Given the description of an element on the screen output the (x, y) to click on. 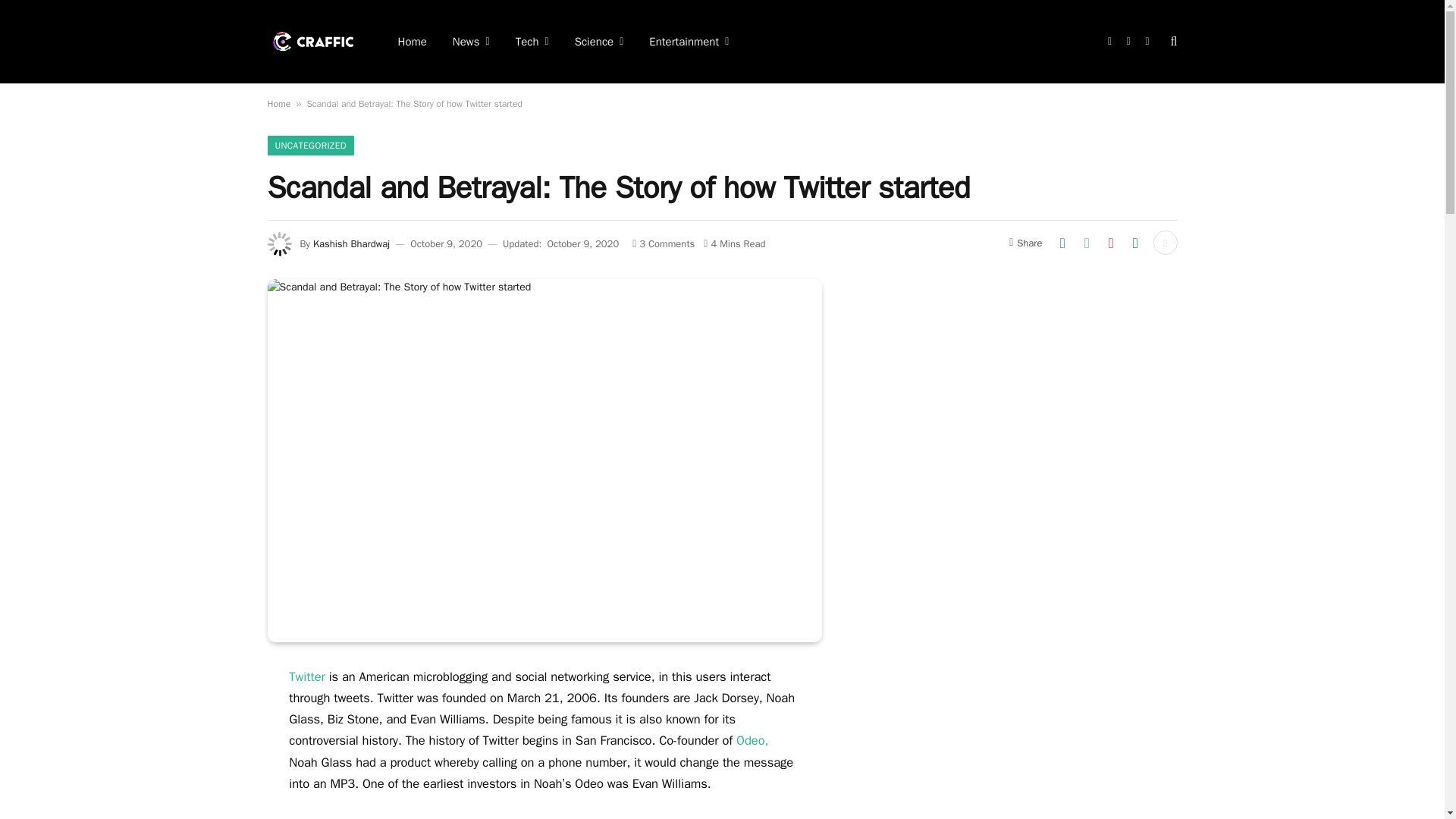
Search (1172, 41)
Science (599, 41)
Craffic (312, 41)
Entertainment (688, 41)
Share on LinkedIn (1135, 242)
Share on Pinterest (1110, 242)
Share on Facebook (1062, 242)
Home (412, 41)
Show More Social Sharing (1164, 242)
Tech (532, 41)
News (470, 41)
